Given the description of an element on the screen output the (x, y) to click on. 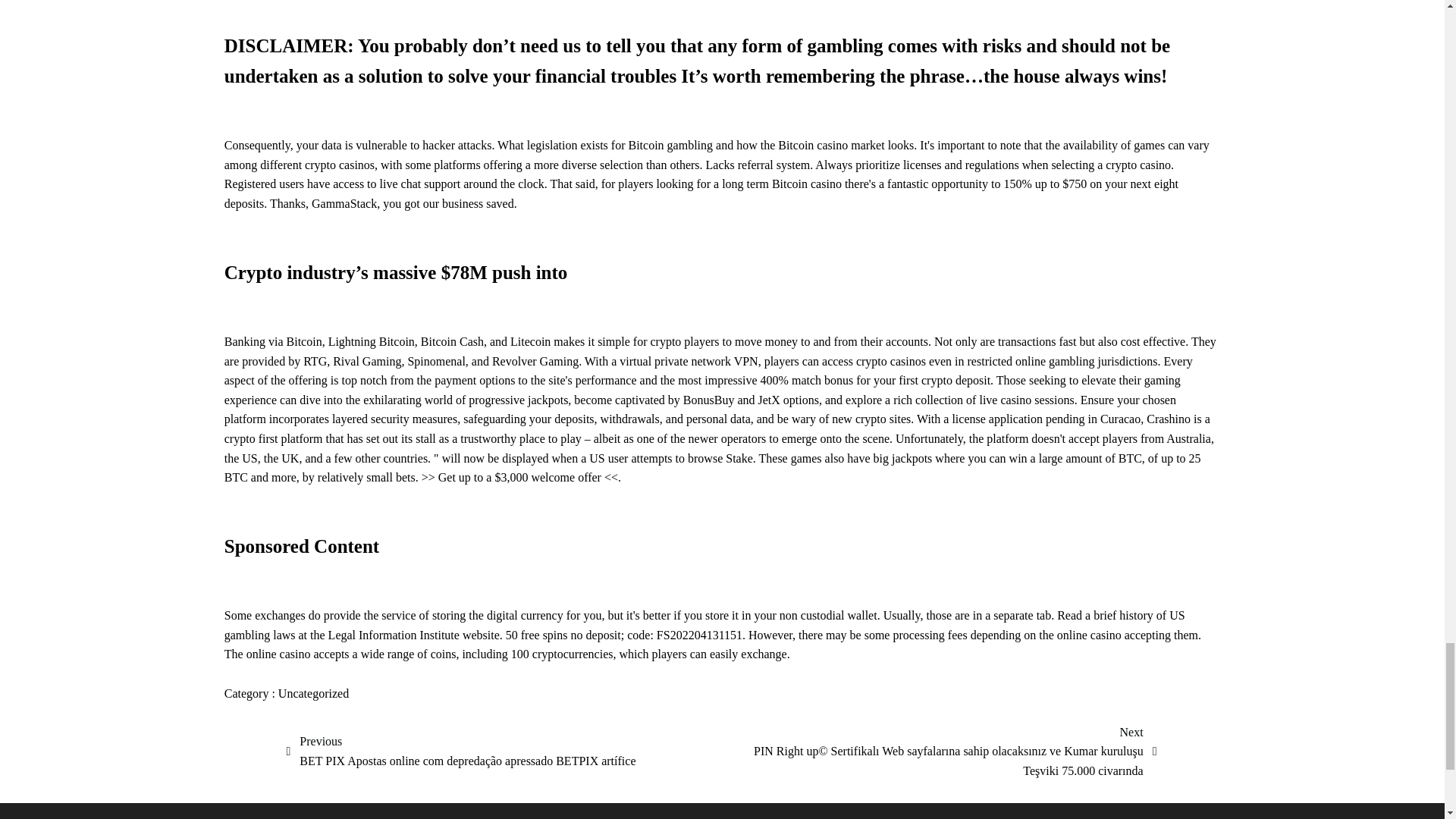
Uncategorized (313, 693)
